Given the description of an element on the screen output the (x, y) to click on. 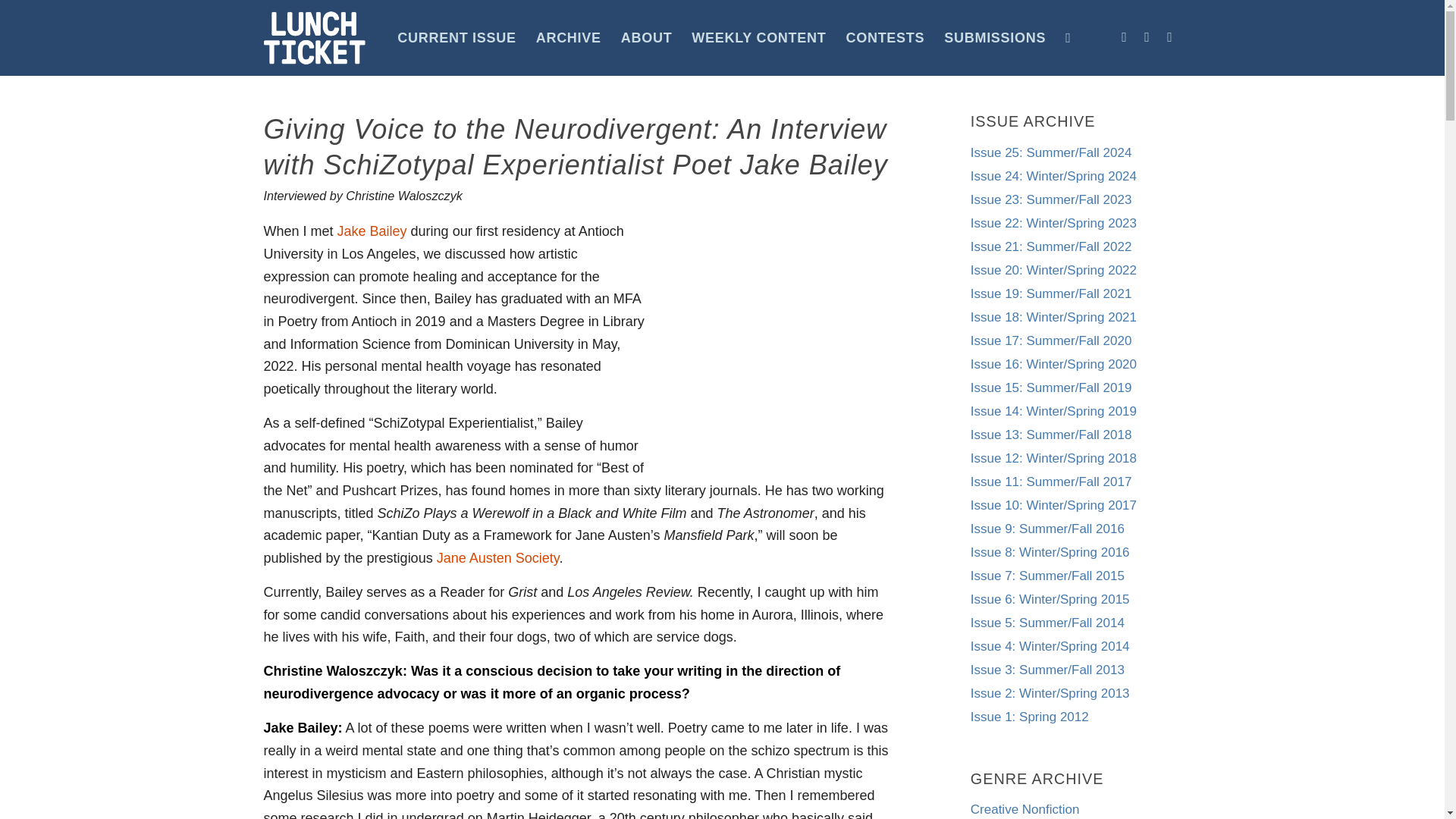
ARCHIVE (568, 38)
Instagram (1146, 36)
CURRENT ISSUE (456, 38)
lunch ticket logo white text-only (314, 38)
X (1169, 36)
Facebook (1124, 36)
